Given the description of an element on the screen output the (x, y) to click on. 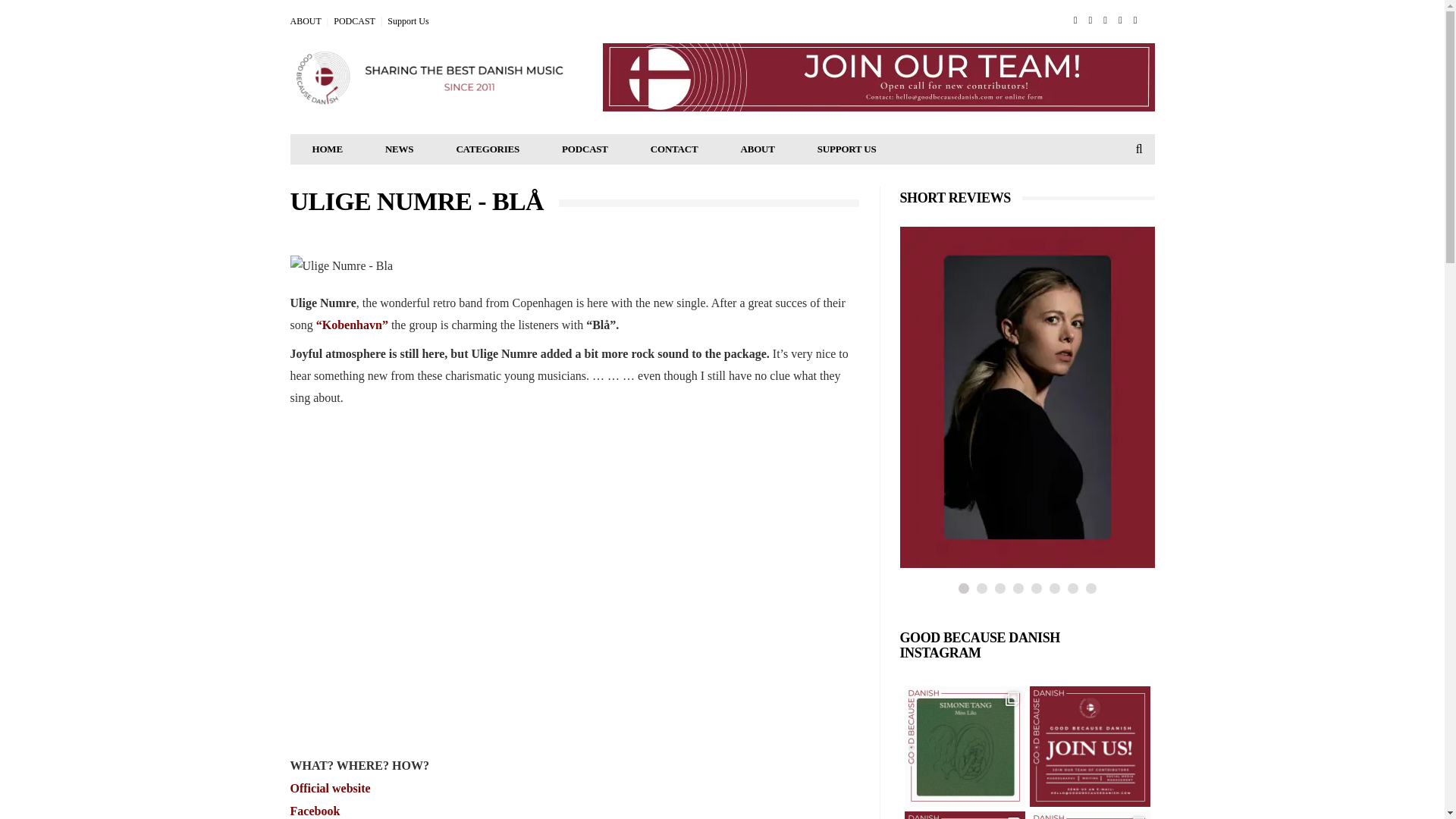
PODCAST (354, 20)
CONTACT (673, 149)
Official website (329, 788)
Support Us (407, 20)
PODCAST (584, 149)
ABOUT (304, 20)
SUPPORT US (847, 149)
HOME (327, 149)
ABOUT (756, 149)
NEWS (399, 149)
